Given the description of an element on the screen output the (x, y) to click on. 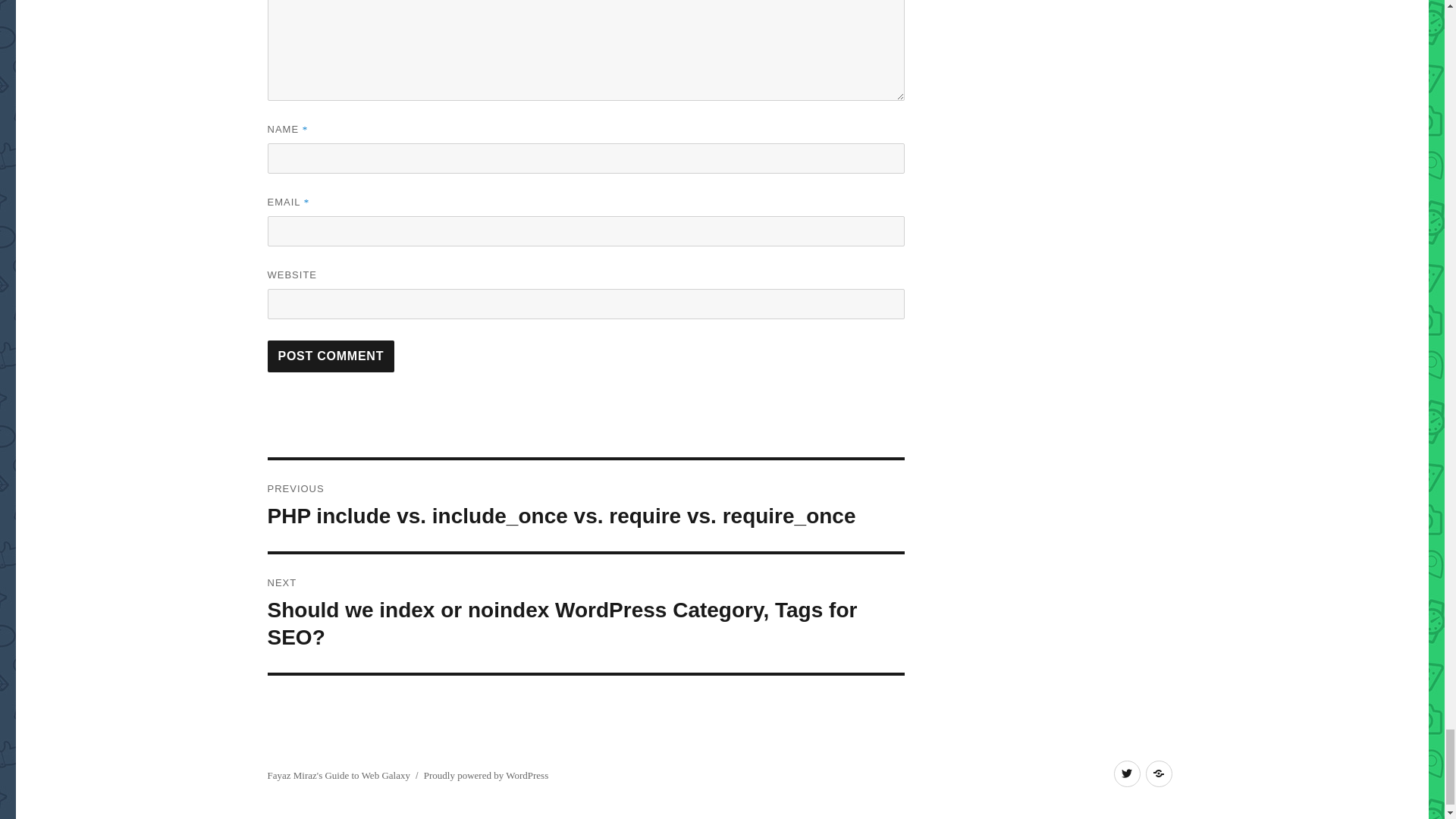
Post Comment (330, 356)
